Given the description of an element on the screen output the (x, y) to click on. 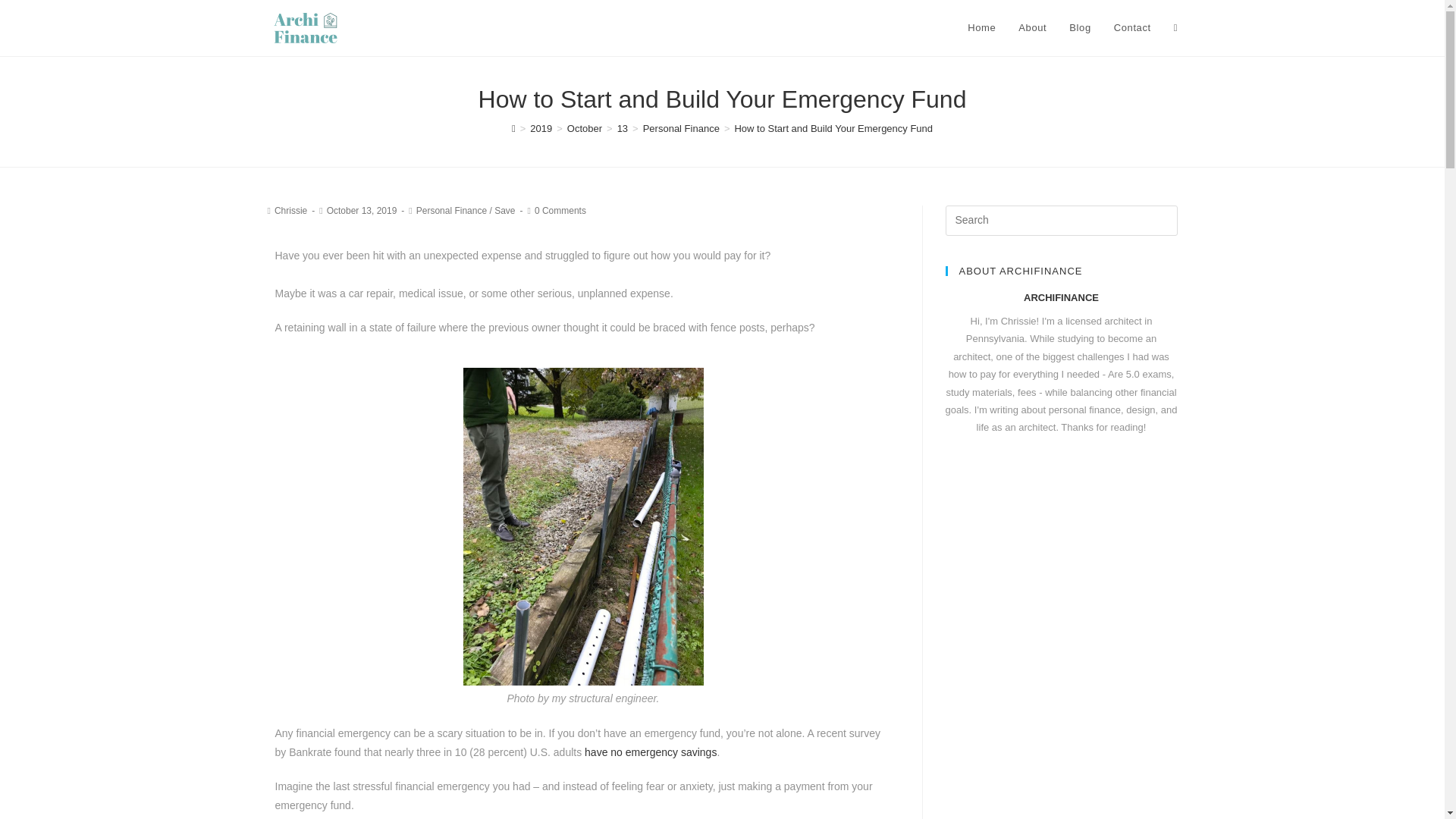
Home (981, 28)
October (584, 128)
have no emergency savings (650, 752)
Save (505, 210)
Personal Finance (681, 128)
Personal Finance (451, 210)
About (1032, 28)
How to Start and Build Your Emergency Fund (833, 128)
13 (622, 128)
Chrissie (291, 210)
Contact (1131, 28)
0 Comments (560, 210)
2019 (540, 128)
